Given the description of an element on the screen output the (x, y) to click on. 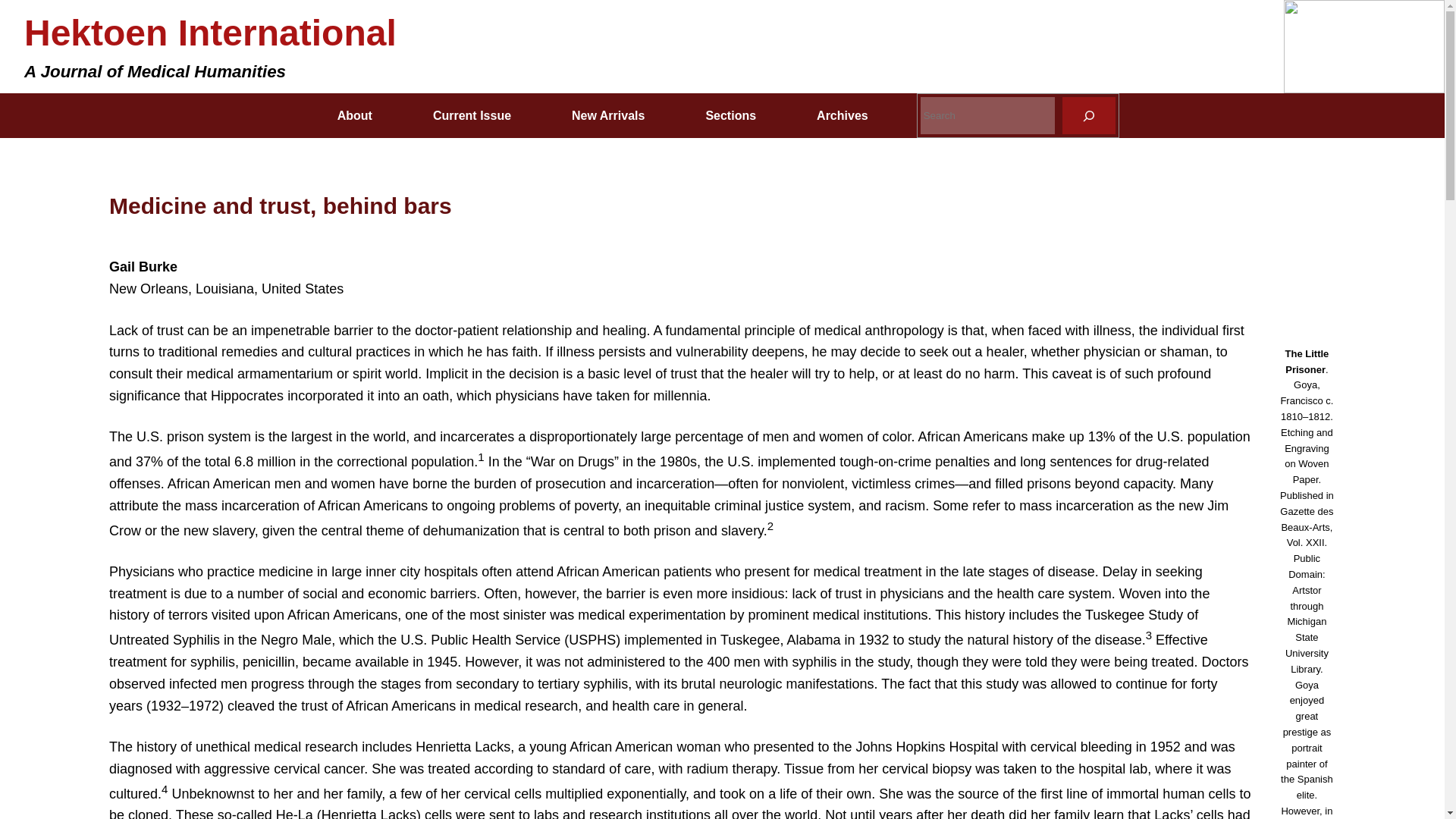
Hektoen International (210, 33)
Archives (842, 115)
New Arrivals (607, 115)
Current Issue (471, 115)
Sections (730, 115)
About (354, 115)
